Given the description of an element on the screen output the (x, y) to click on. 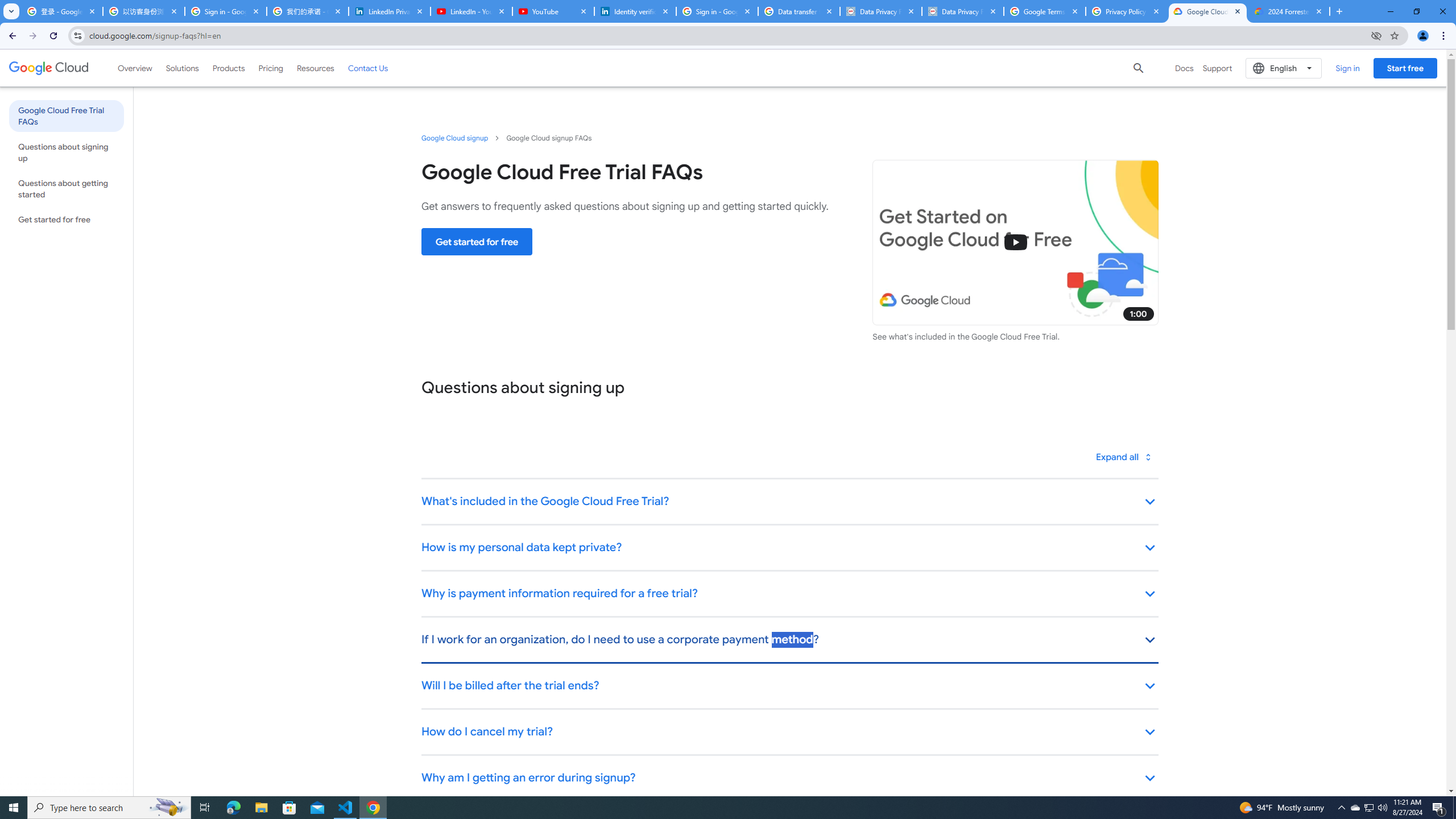
Docs (1183, 67)
Toggle all (1123, 456)
Sign in - Google Accounts (225, 11)
Products (228, 67)
Google Cloud signup (454, 137)
LinkedIn - YouTube (470, 11)
LinkedIn Privacy Policy (389, 11)
